Given the description of an element on the screen output the (x, y) to click on. 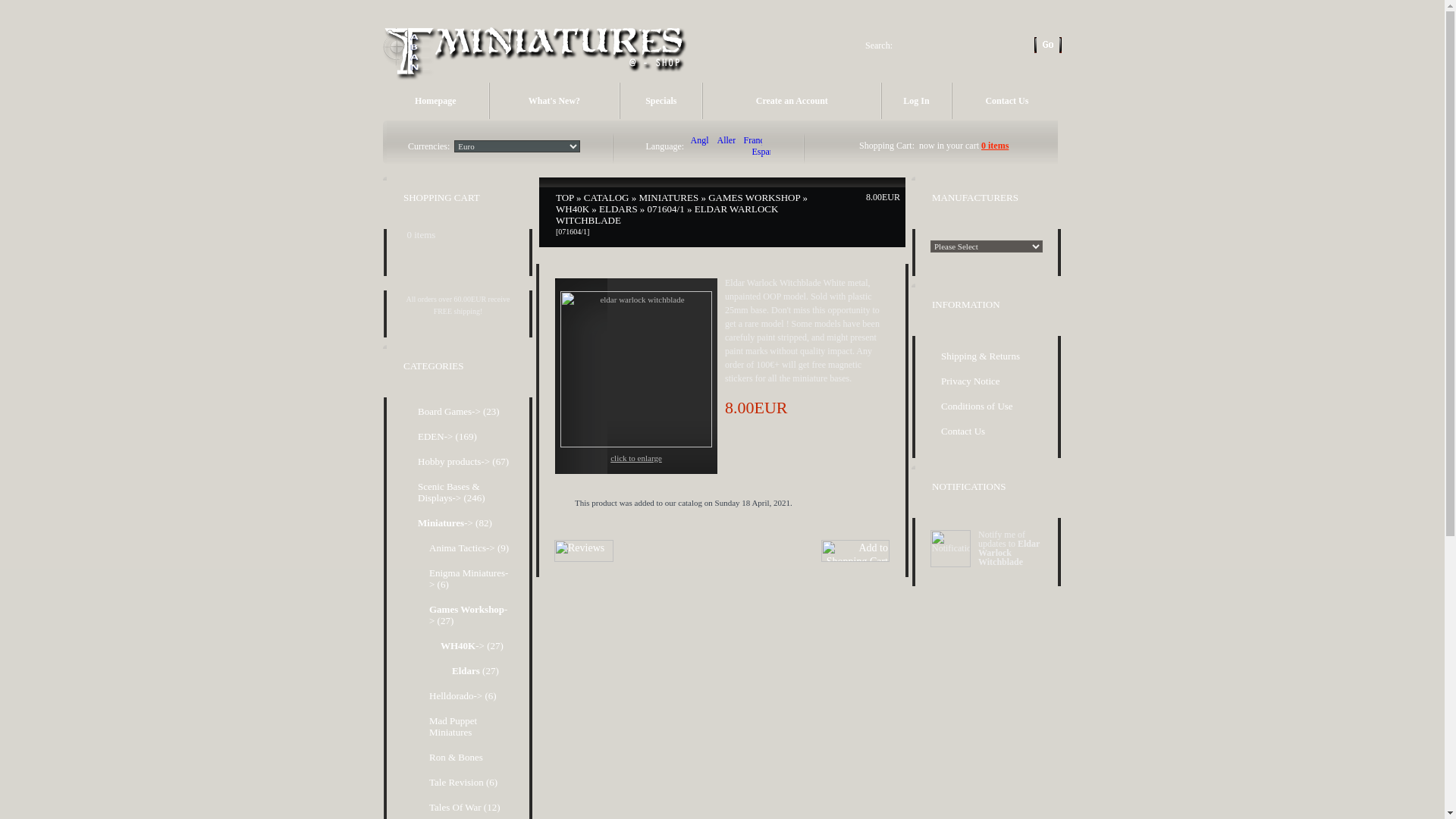
 Reviews  (583, 550)
MINIATURES (668, 197)
Mad Puppet Miniatures (466, 726)
WH40K (572, 208)
ELDARS (617, 208)
 Notifications  (950, 548)
 Espanol  (761, 152)
 Add to Shopping Cart  (855, 550)
 Allemand  (726, 140)
 Anglais  (698, 140)
Conditions of Use (986, 405)
TOP (564, 197)
 Eldar Warlock Witchblade  (635, 369)
0 items (995, 145)
CATALOG (605, 197)
